Given the description of an element on the screen output the (x, y) to click on. 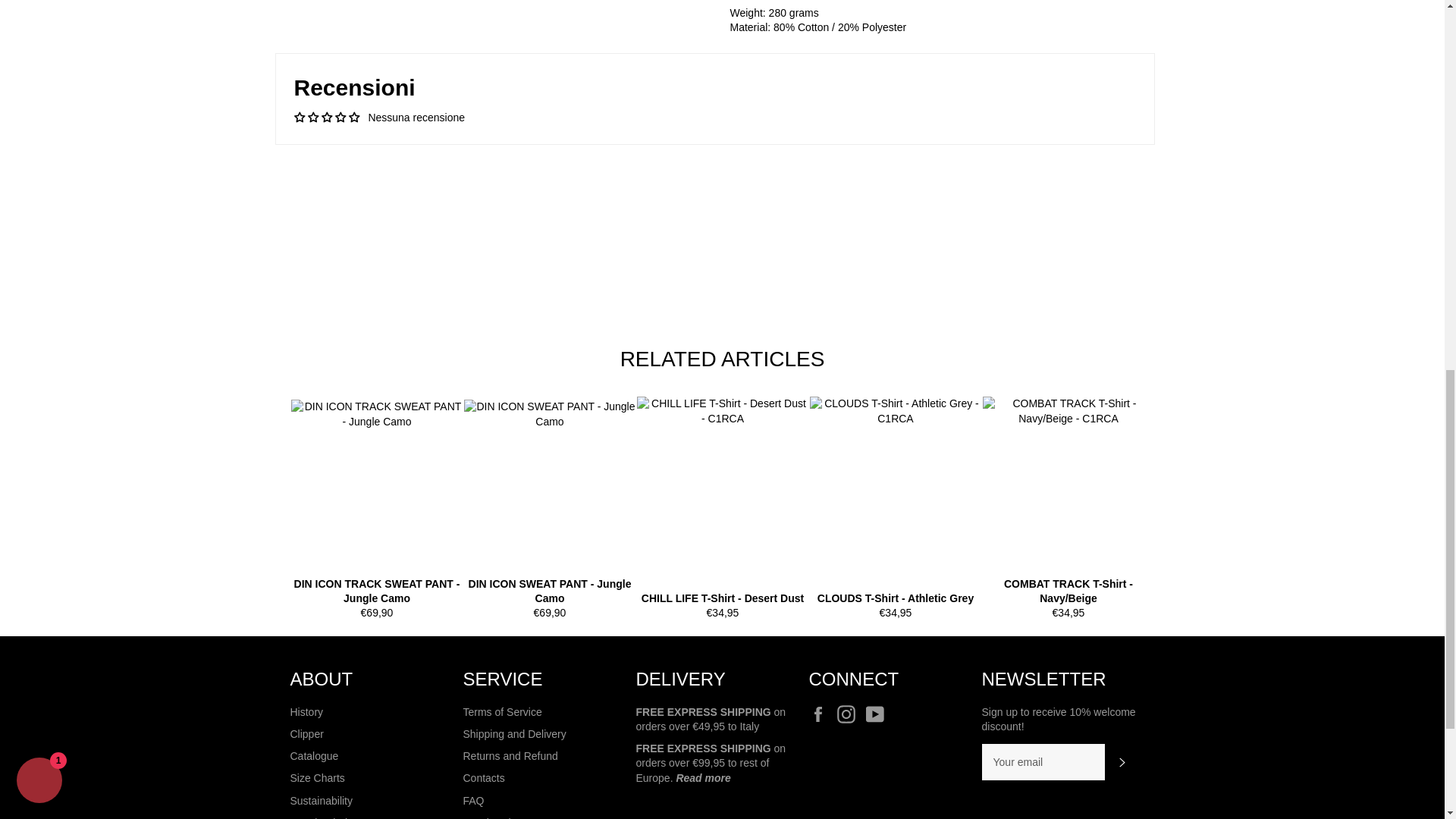
Shipping Policy (702, 777)
